Given the description of an element on the screen output the (x, y) to click on. 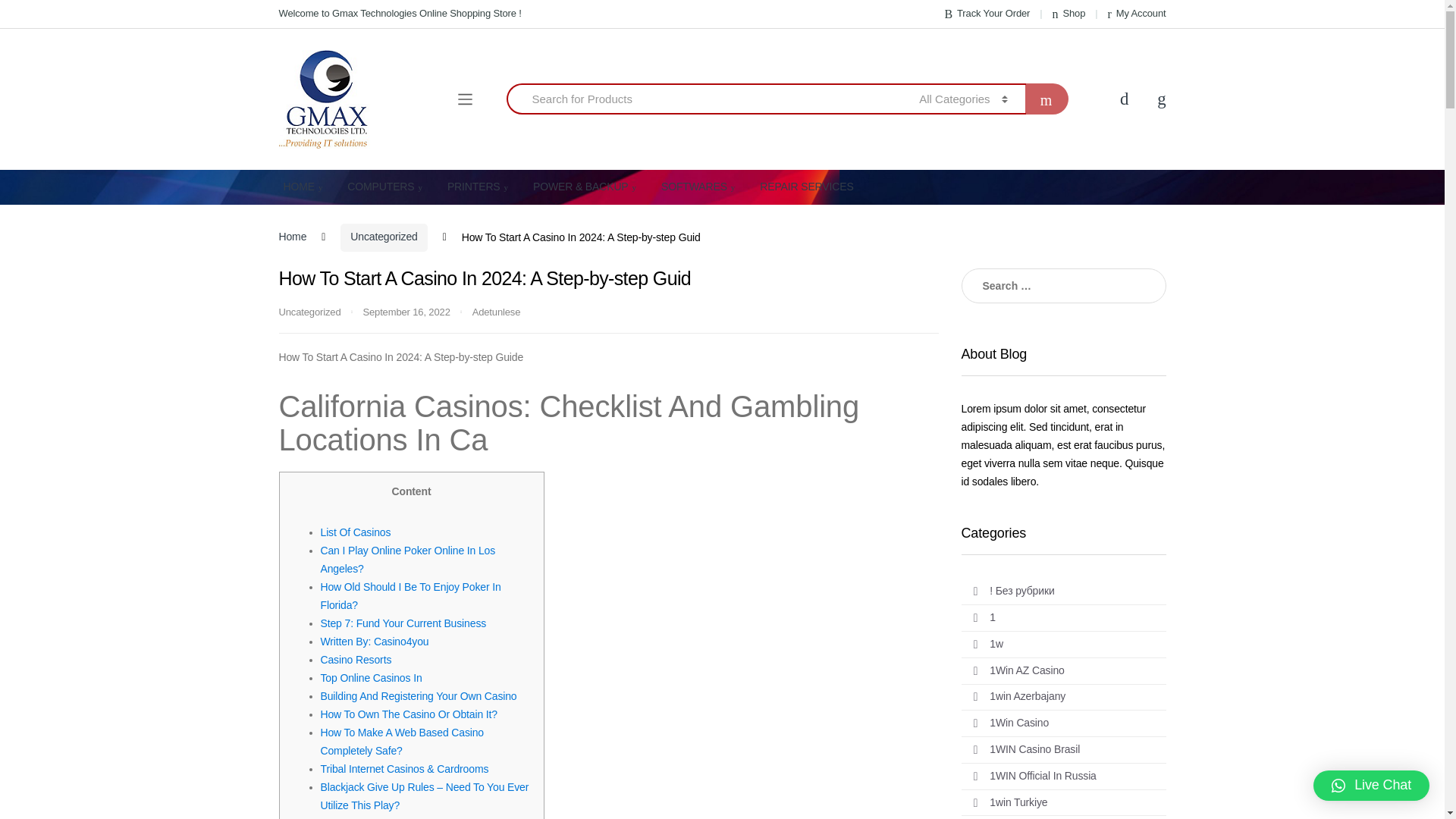
Track Your Order (987, 13)
Shop (1069, 13)
Track Your Order (987, 13)
Welcome to Gmax Technologies Online Shopping Store ! (400, 13)
My Account (1136, 13)
Welcome to Gmax Technologies Online Shopping Store ! (400, 13)
Shop (1069, 13)
My Account (1136, 13)
